Given the description of an element on the screen output the (x, y) to click on. 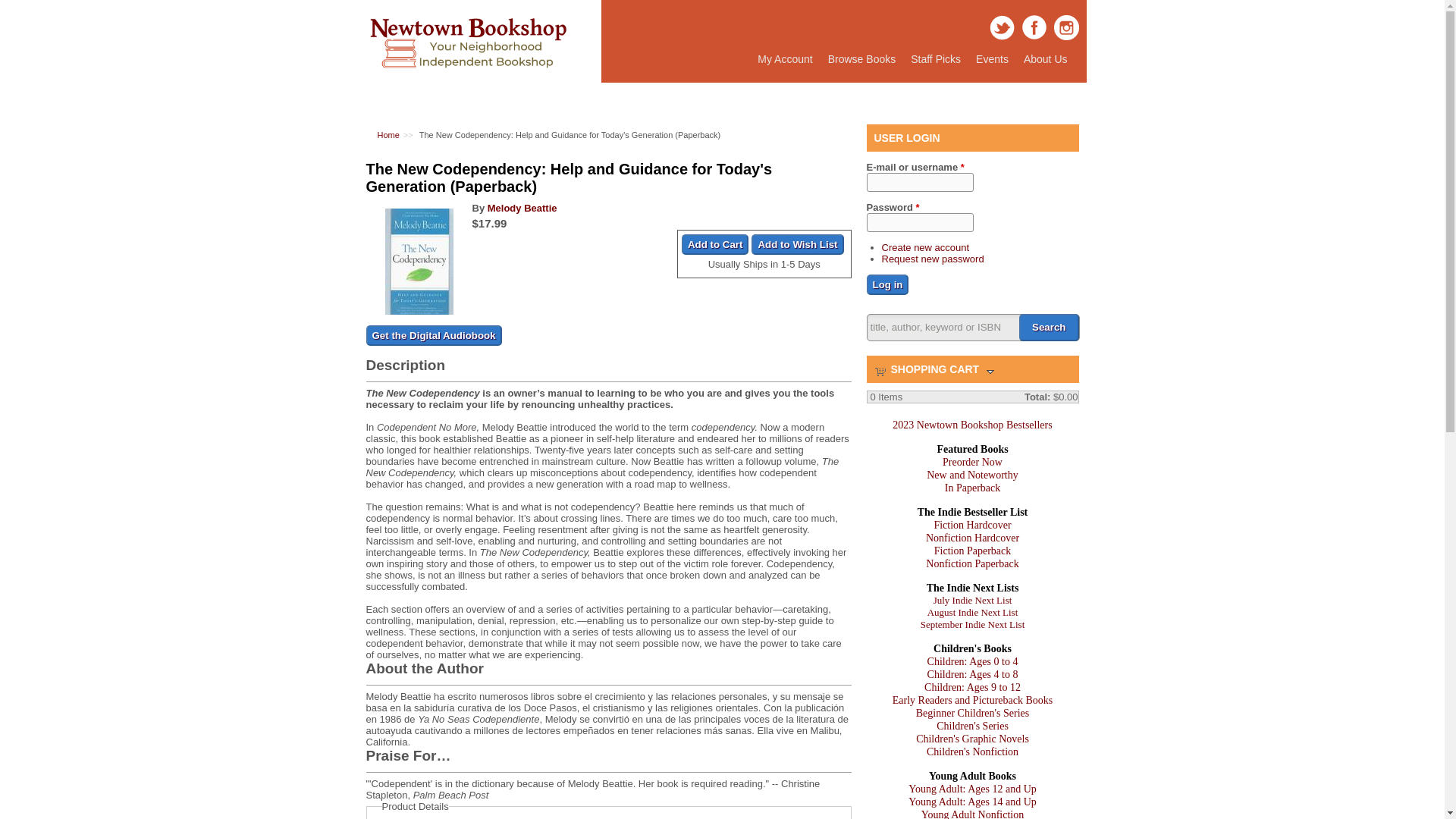
Home (387, 134)
Add to Wish List (797, 244)
View your shopping cart. (879, 370)
Log in (887, 284)
Log in (887, 284)
September Indie Next List (972, 624)
Request new password (932, 258)
Browse books by category (861, 58)
August Indie Next List (972, 612)
Melody Beattie (522, 207)
